Given the description of an element on the screen output the (x, y) to click on. 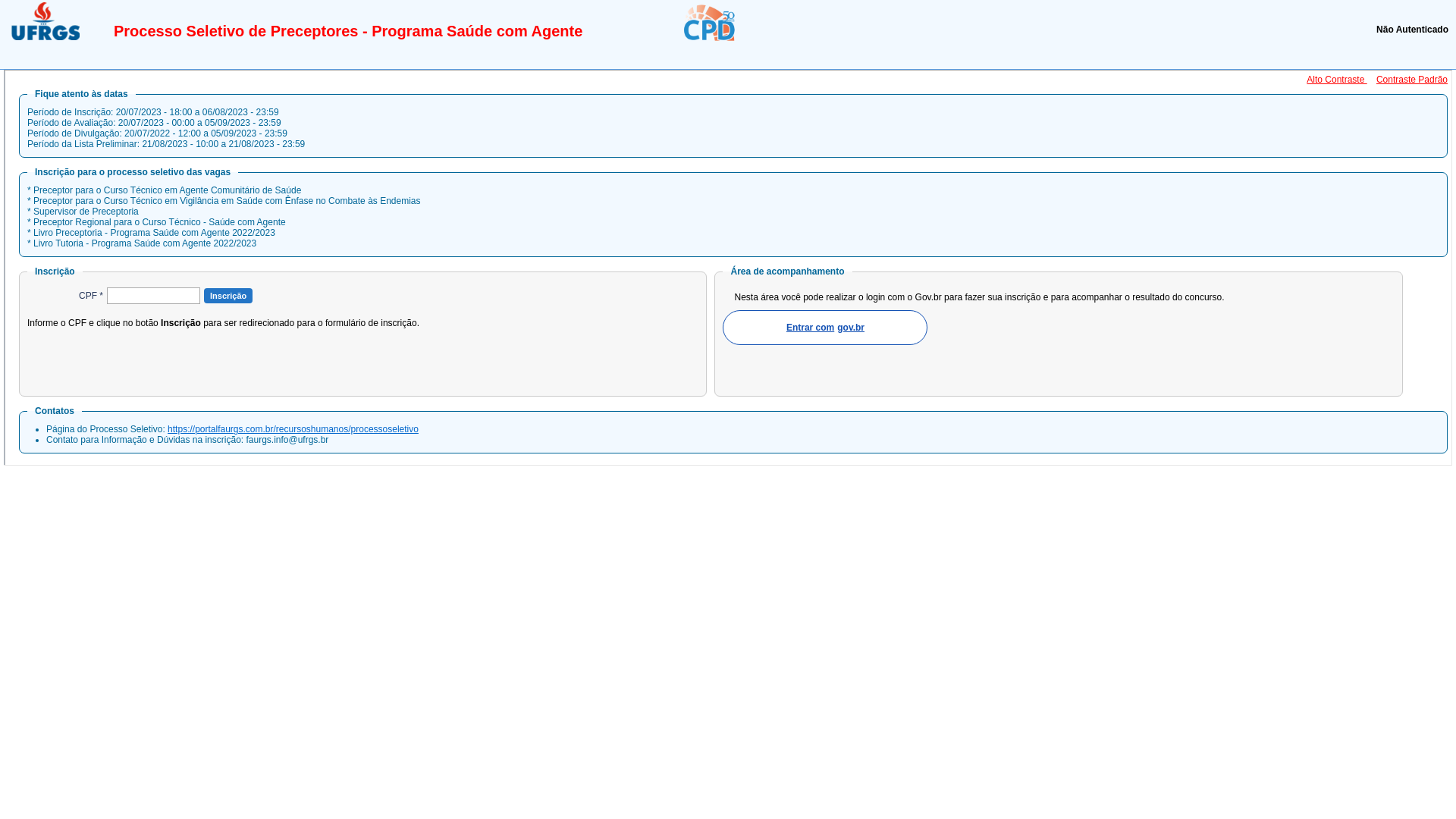
https://portalfaurgs.com.br/recursoshumanos/processoseletivo Element type: text (292, 428)
Entrar com
gov.br Element type: text (824, 327)
Alto Contraste Element type: text (1336, 79)
